Given the description of an element on the screen output the (x, y) to click on. 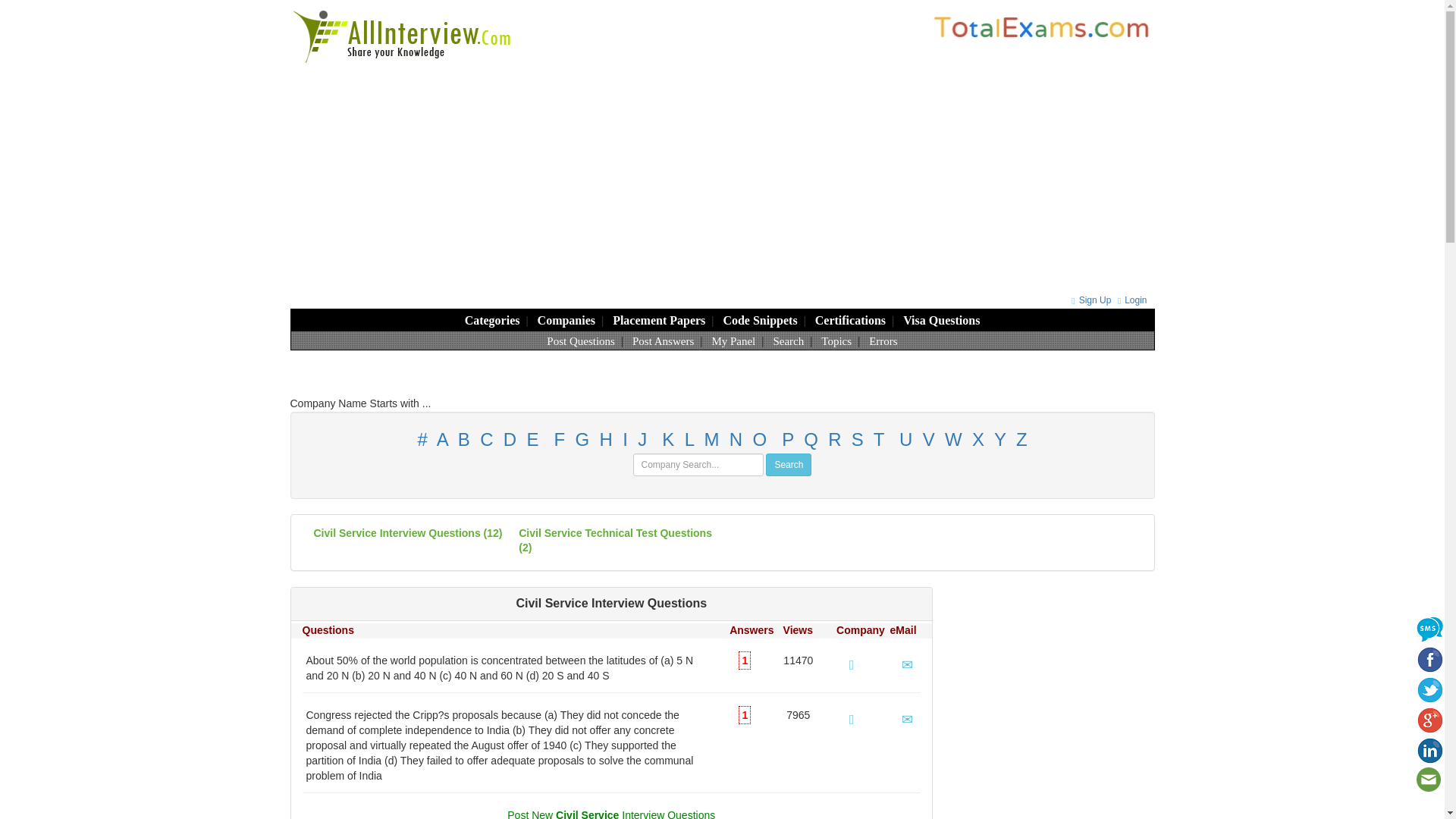
Which company interview, this question was asked ? (852, 719)
Search (788, 340)
Post Answers for Un-Answered Questions (662, 340)
Login (1130, 299)
Categories (491, 319)
Which company interview, this question was asked ? (852, 664)
Certification Questions (850, 319)
E-Mail New Answers (906, 719)
Topics -- Provides Information in Depth (836, 340)
Code Snippets (759, 319)
Certifications (850, 319)
Errors (883, 340)
Placement Papers (658, 319)
Post New Questions (580, 340)
Post (610, 814)
